Given the description of an element on the screen output the (x, y) to click on. 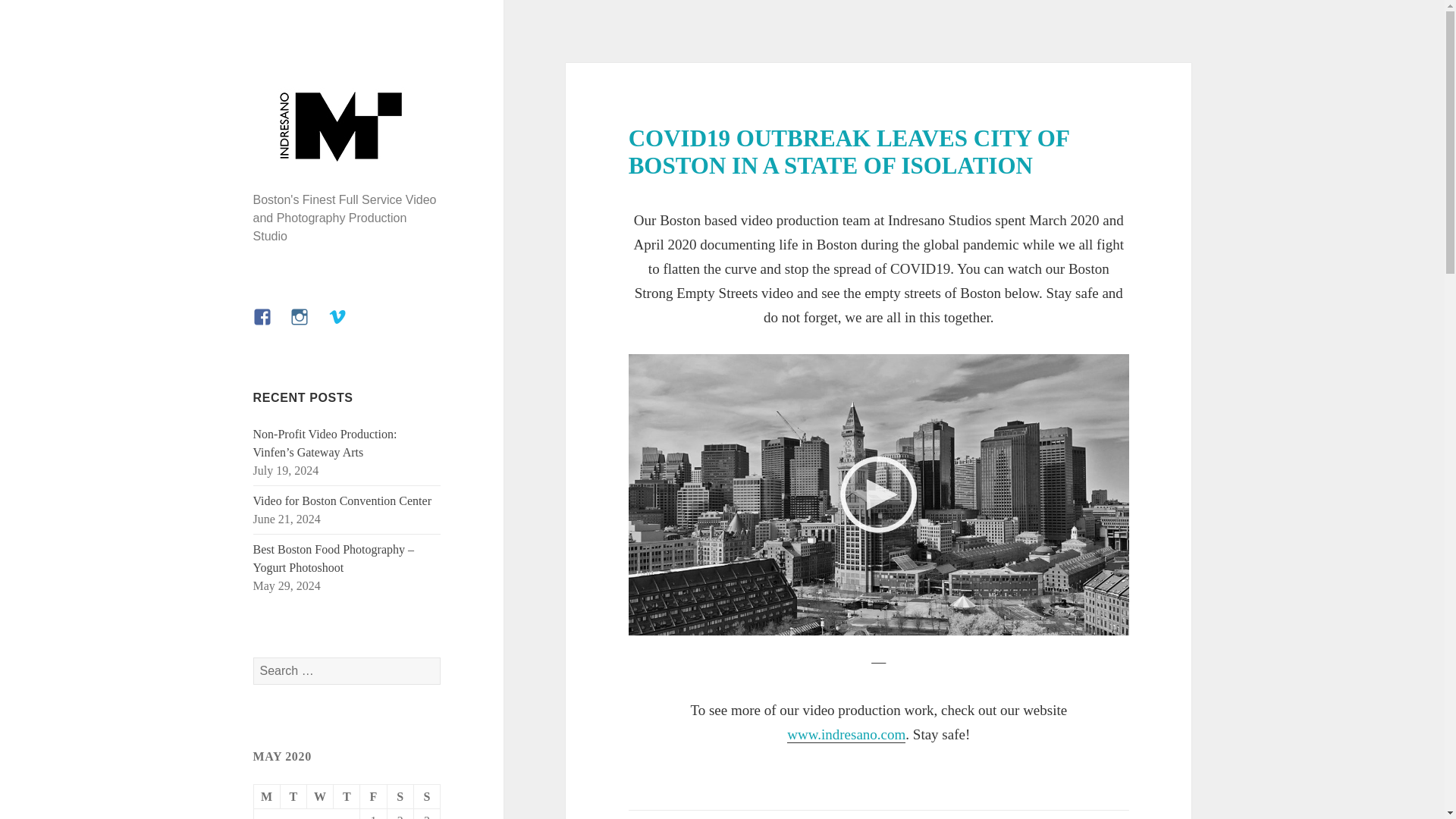
Saturday (400, 796)
Instagram (307, 325)
Monday (267, 796)
Tuesday (294, 796)
Sunday (427, 796)
Wednesday (320, 796)
Friday (373, 796)
www.indresano.com (846, 734)
Video for Boston Convention Center (341, 500)
Facebook (271, 325)
Thursday (346, 796)
Vimeo (347, 325)
